Given the description of an element on the screen output the (x, y) to click on. 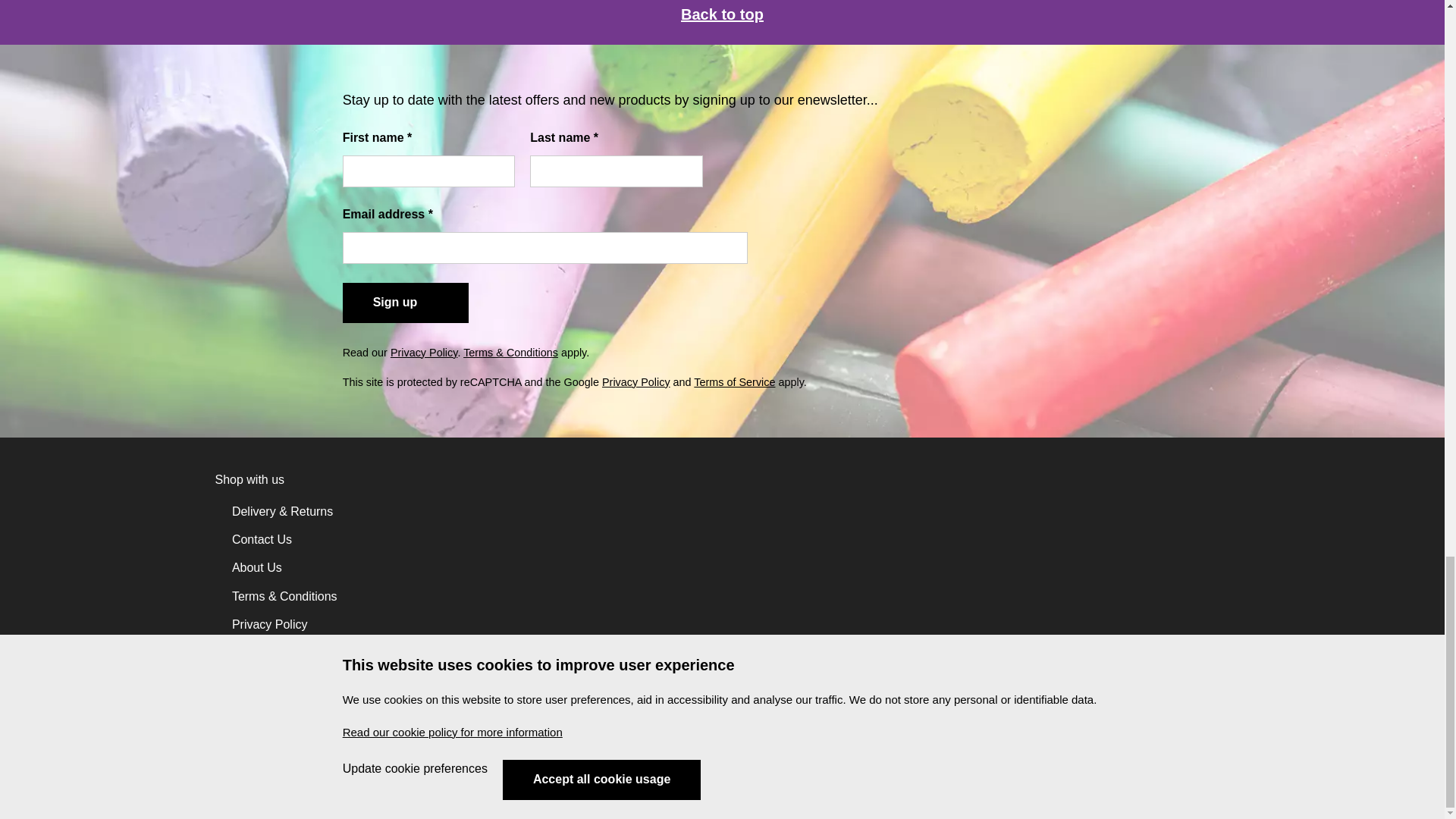
Privacy Policy (424, 352)
